Given the description of an element on the screen output the (x, y) to click on. 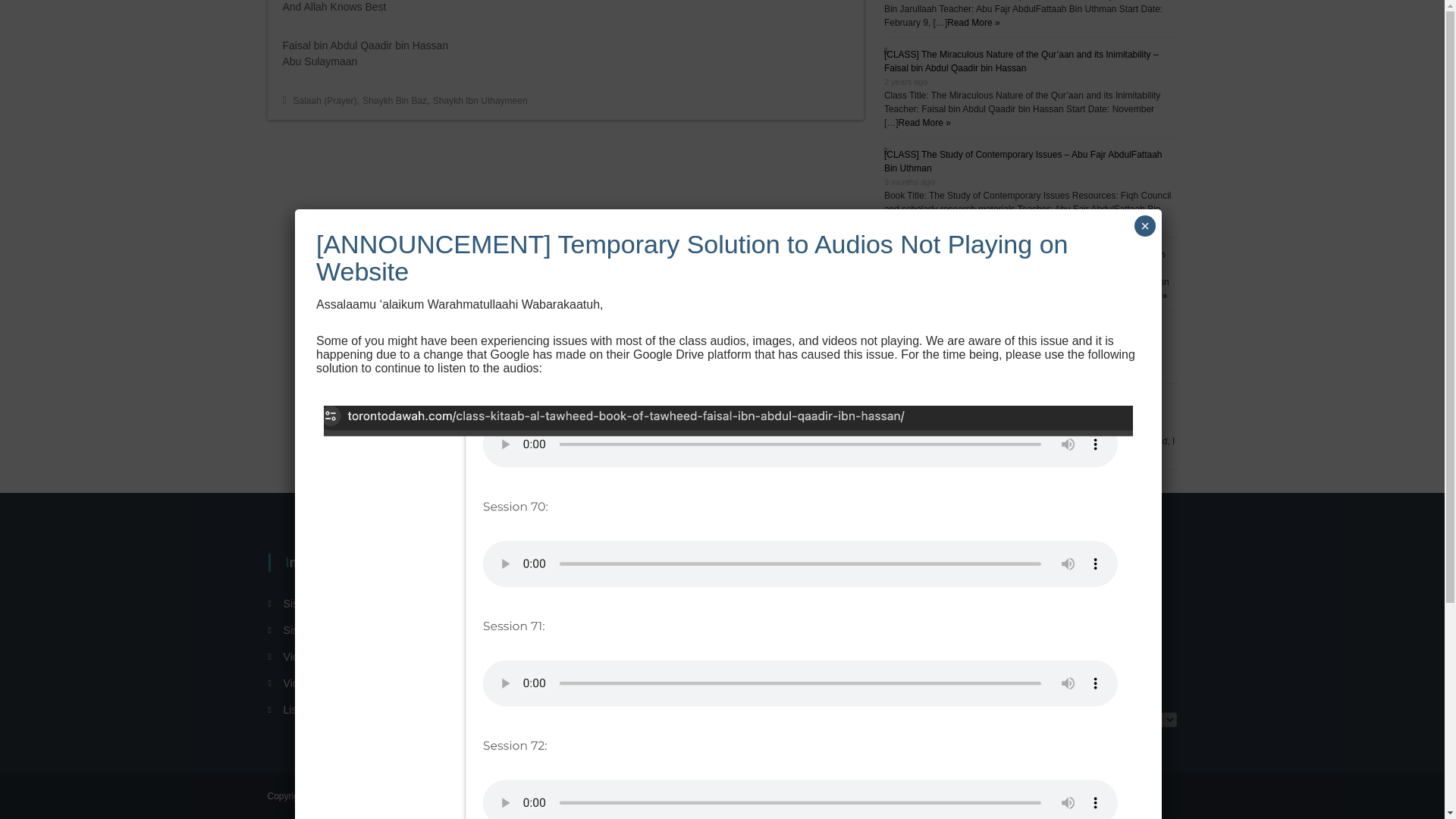
Shaykh Ibn Uthaymeen (479, 100)
Shaykh Bin Baz (394, 100)
